Given the description of an element on the screen output the (x, y) to click on. 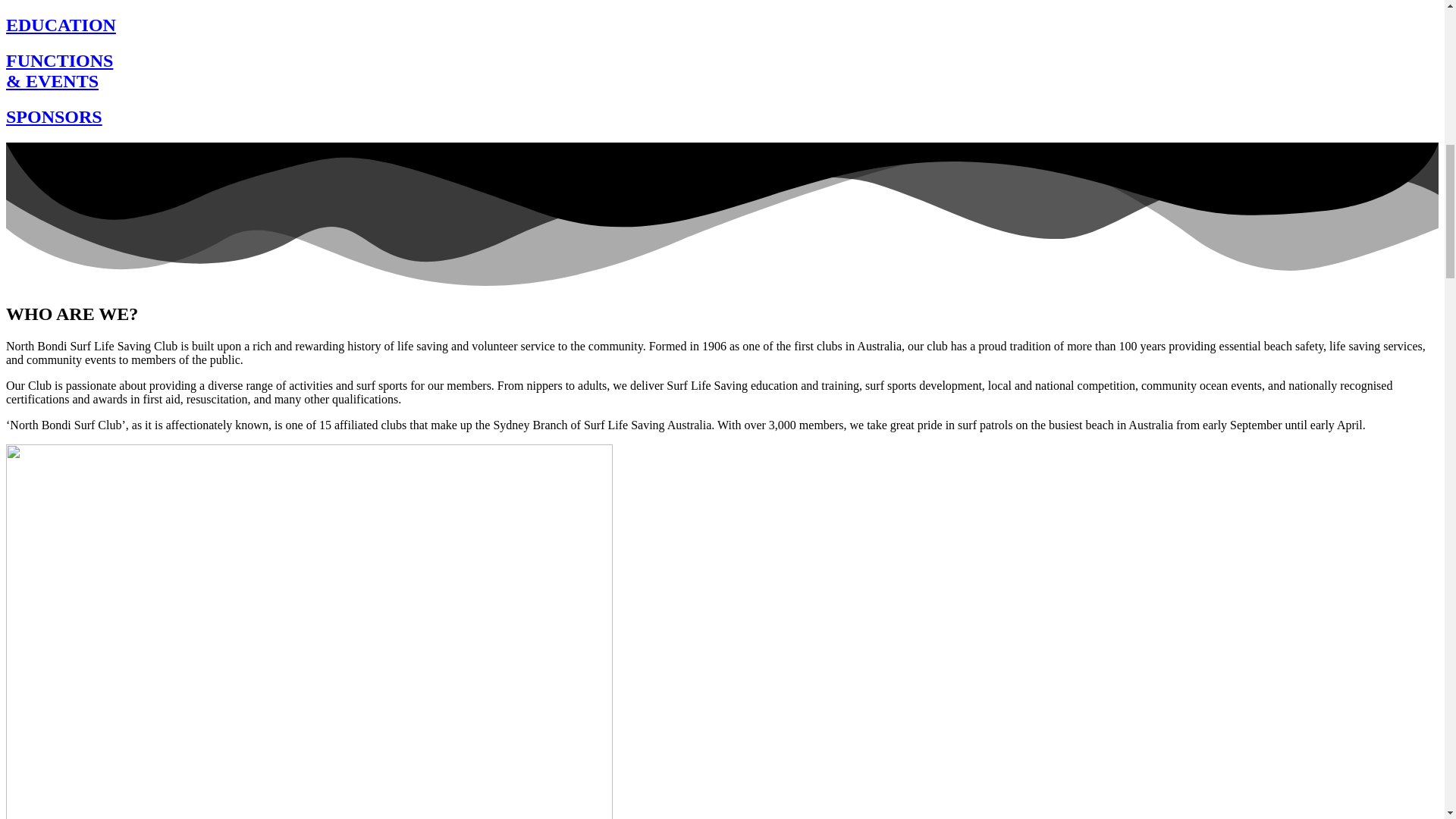
EDUCATION (60, 25)
SPONSORS (53, 116)
